Given the description of an element on the screen output the (x, y) to click on. 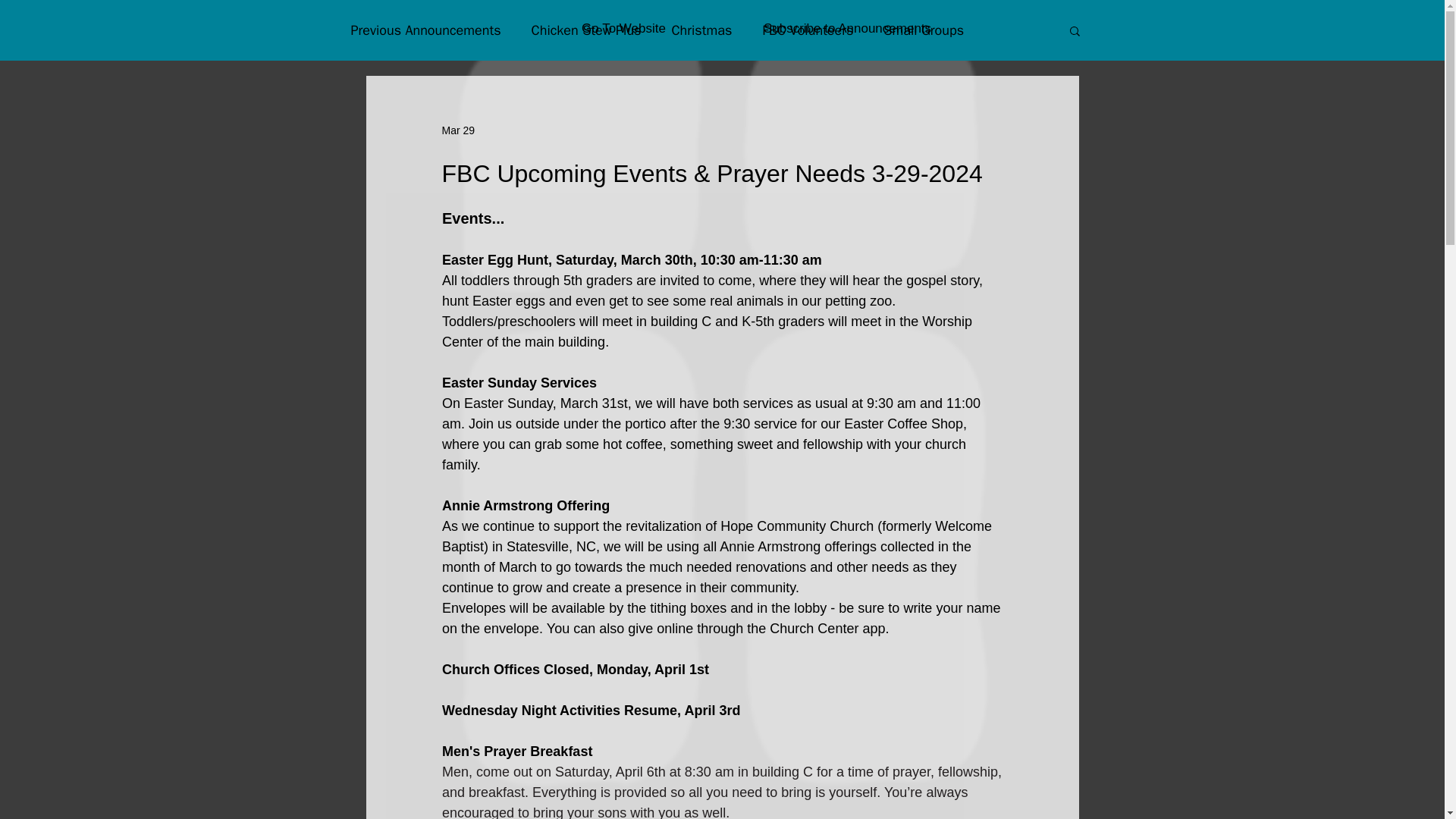
Christmas (701, 30)
FBC Volunteers (807, 30)
Subscribe to Announcements (846, 28)
Go To Website (622, 28)
Chicken Stew Plus (586, 30)
Small Groups (923, 30)
Mar 29 (457, 130)
Previous Announcements (425, 30)
